Given the description of an element on the screen output the (x, y) to click on. 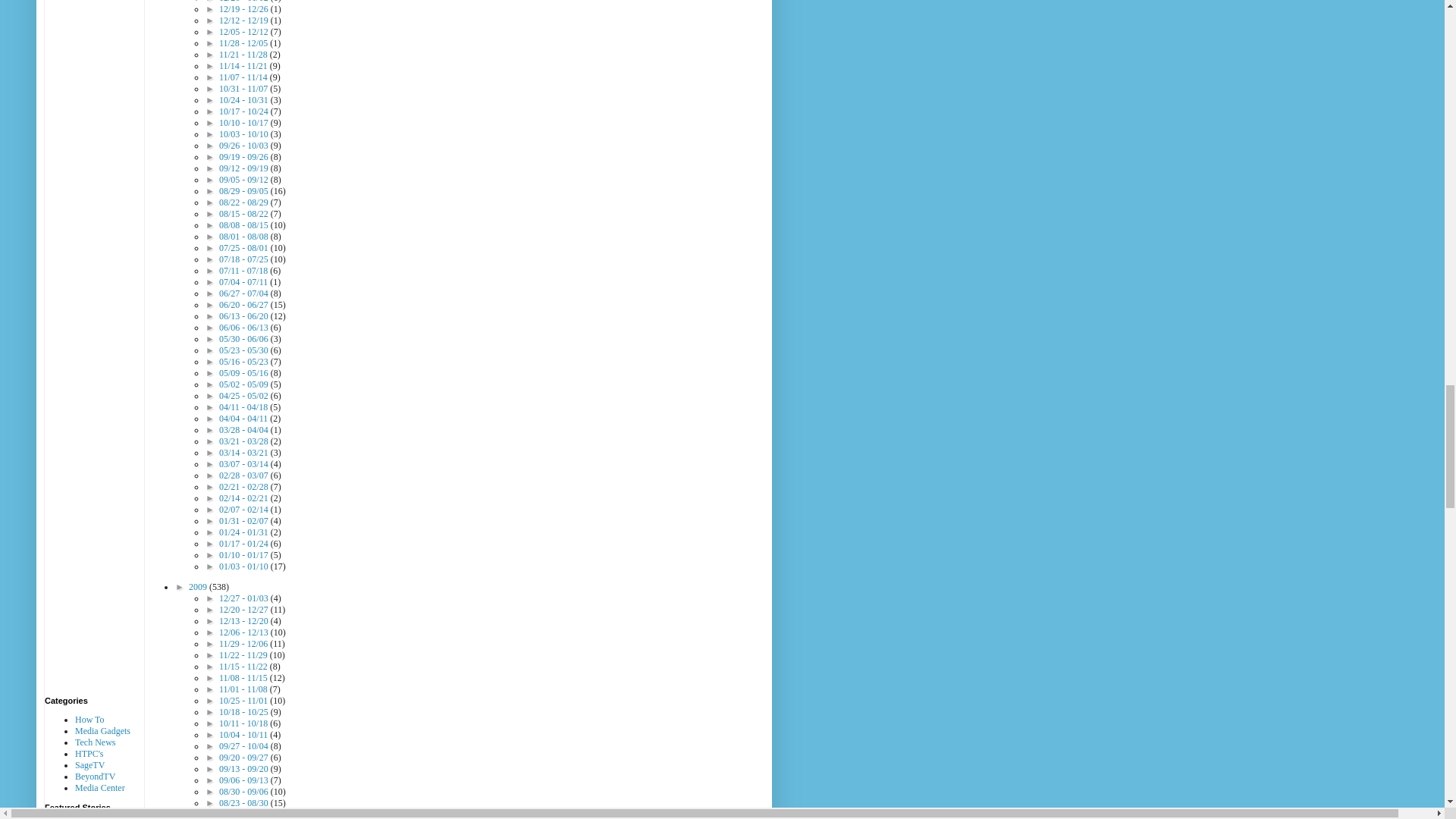
BeyondTV (95, 776)
HTPC's (89, 753)
SageTV (89, 765)
Media Gadgets (103, 730)
Media Center (100, 787)
Tech News (95, 742)
How To (89, 719)
